Given the description of an element on the screen output the (x, y) to click on. 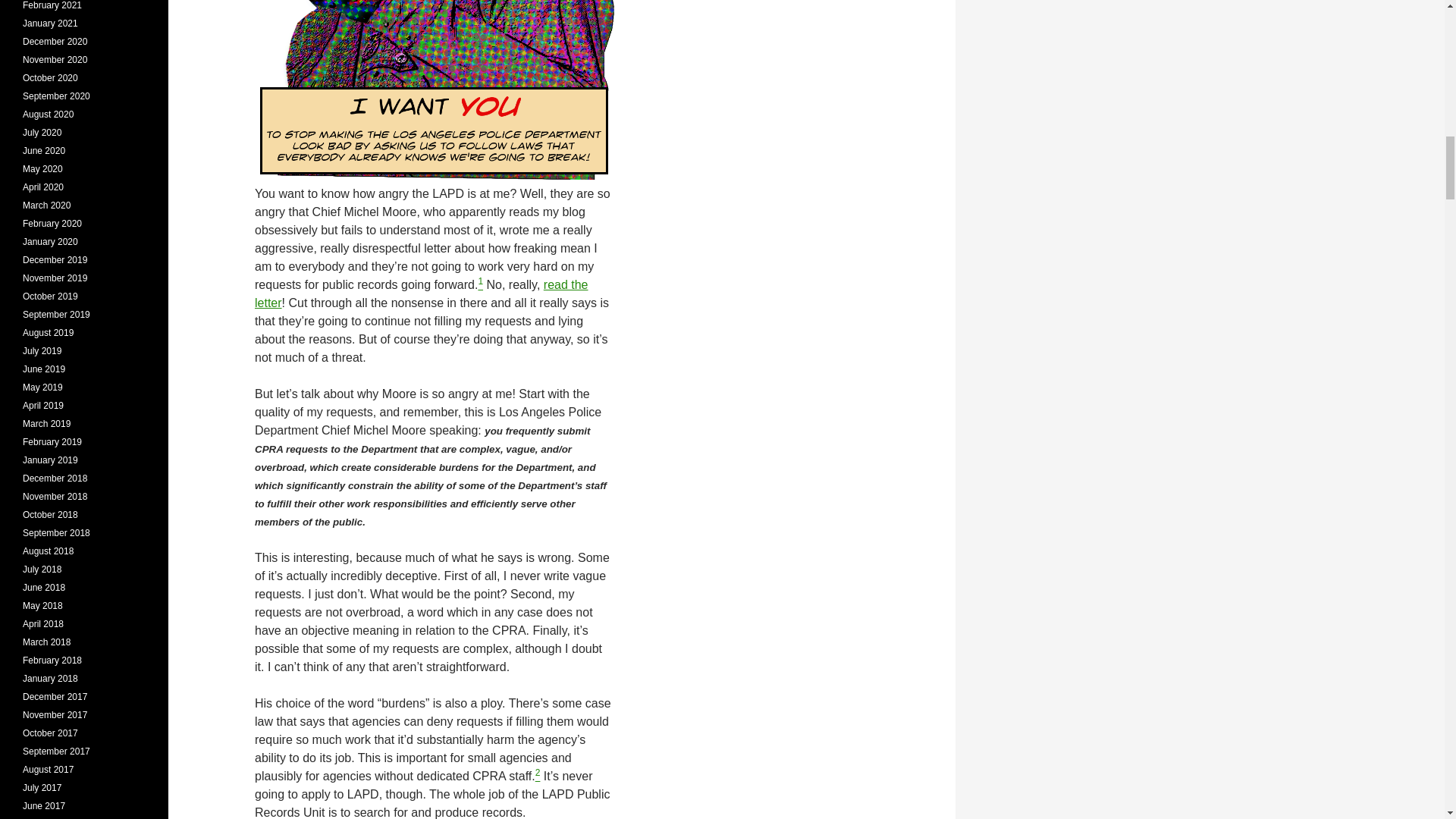
read the letter (421, 293)
2 (537, 775)
1 (480, 284)
